Given the description of an element on the screen output the (x, y) to click on. 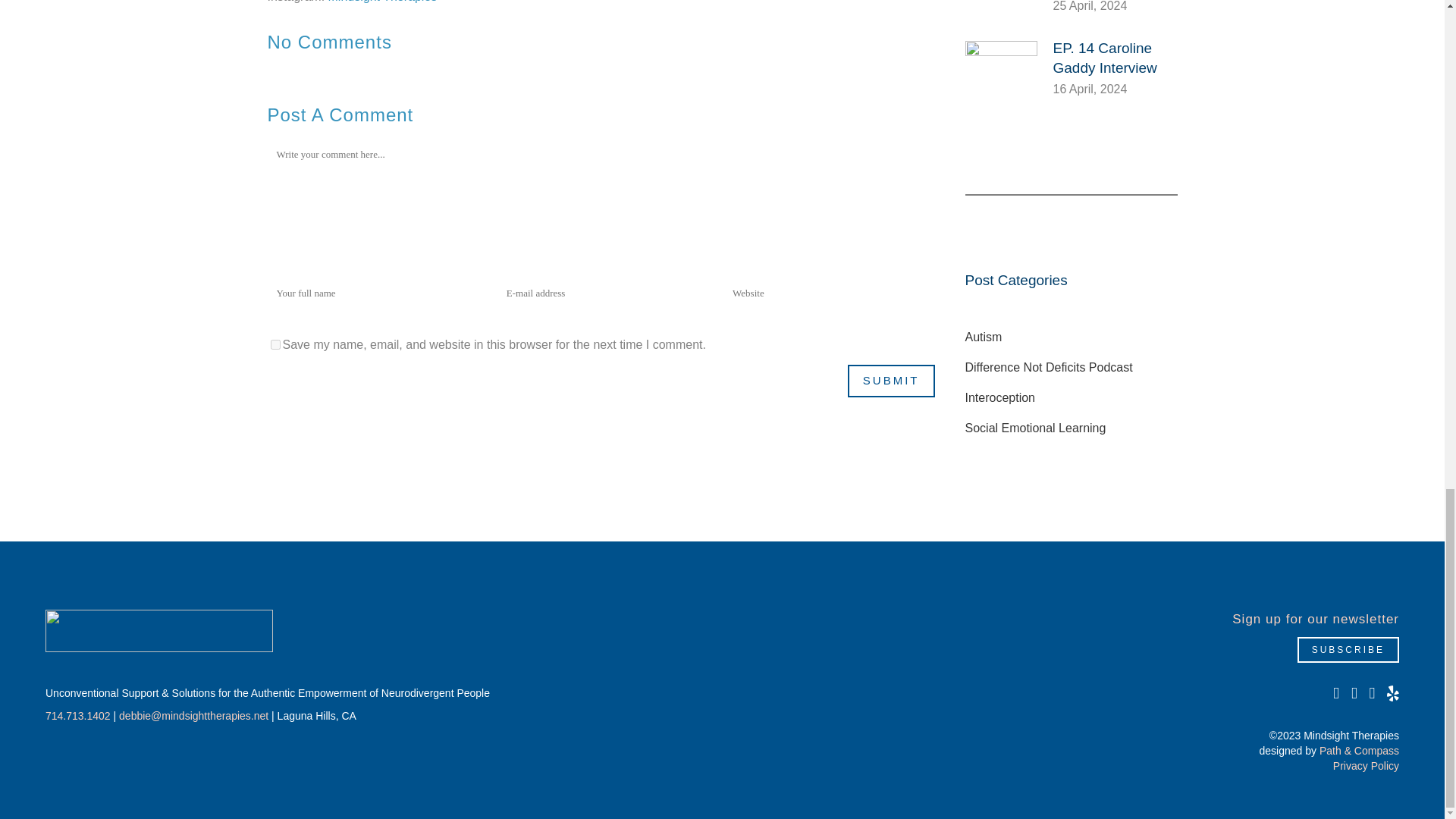
Social Emotional Learning (1034, 427)
yes (274, 344)
Mindsight Therapies (159, 630)
Interoception (999, 397)
Mindsight Therapies (383, 1)
714.713.1402 (77, 715)
Submit (890, 380)
EP. 14 Caroline Gaddy Interview (1104, 58)
Difference Not Deficits Podcast (1047, 367)
Submit (890, 380)
